Given the description of an element on the screen output the (x, y) to click on. 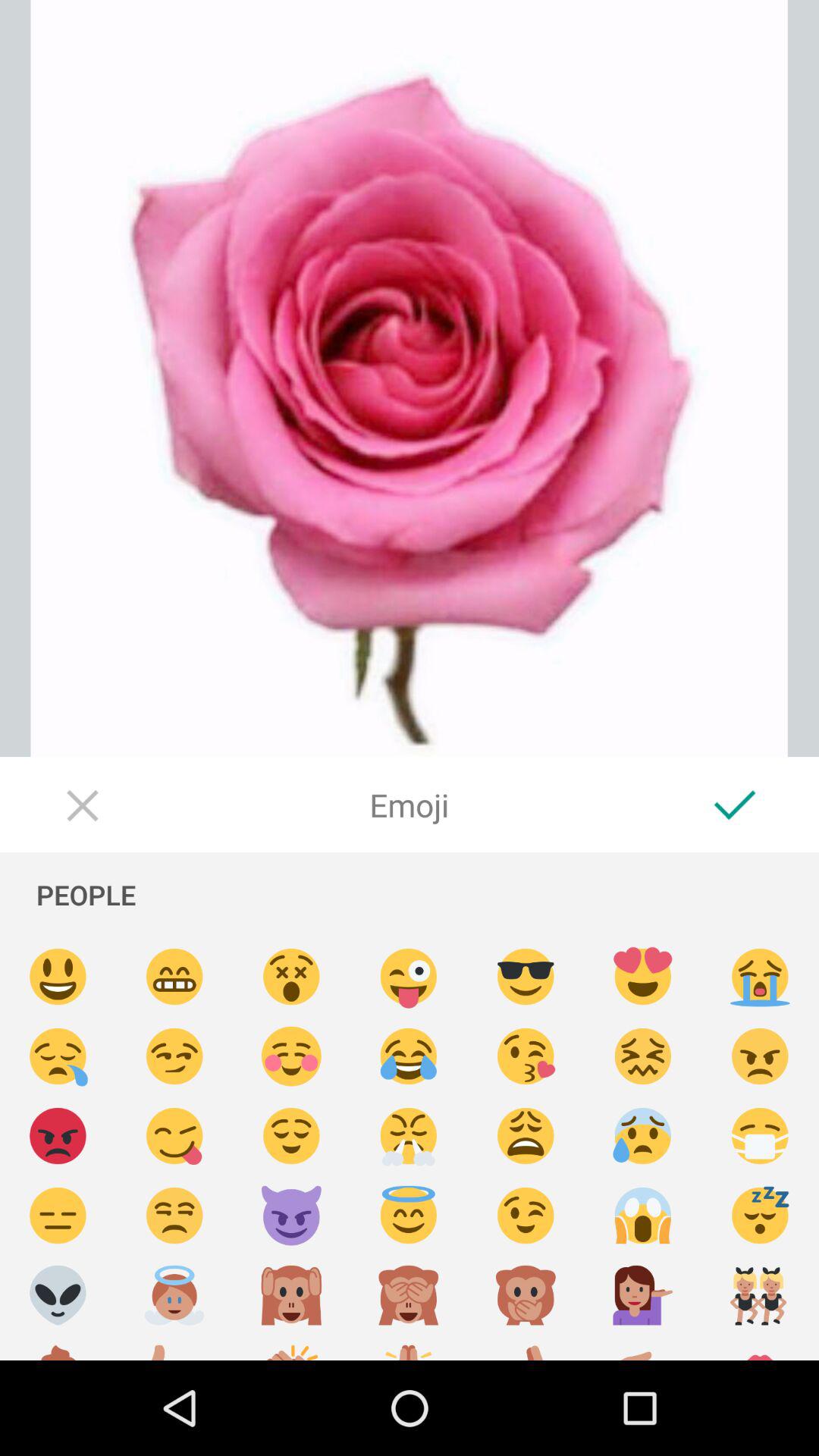
use emoji (642, 976)
